Given the description of an element on the screen output the (x, y) to click on. 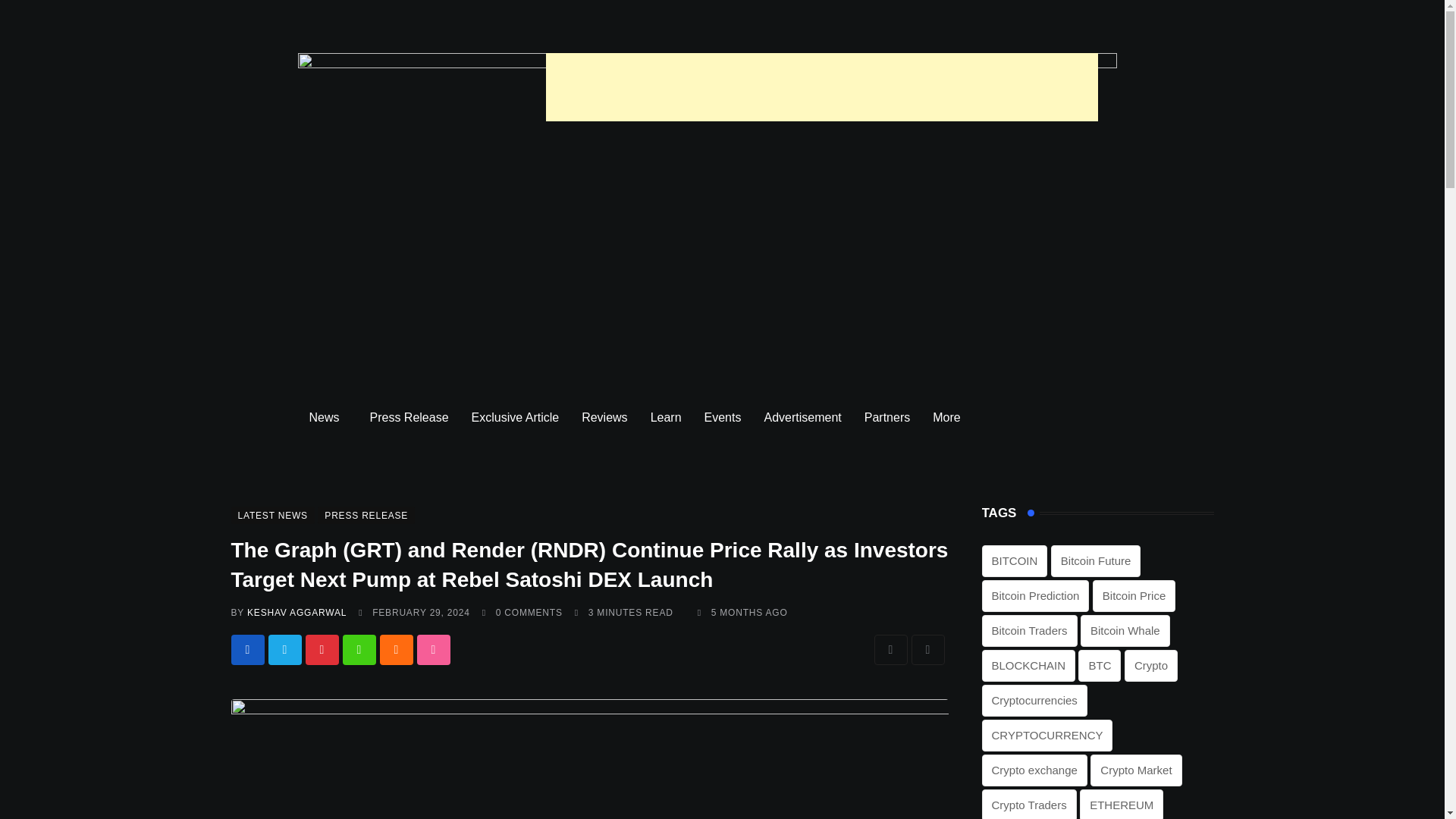
Posts by Keshav Aggarwal (296, 612)
Exclusive Article (515, 417)
PRESS RELEASE (365, 513)
Learn (666, 417)
Advertisement (801, 417)
LATEST NEWS (272, 513)
Reviews (604, 417)
KESHAV AGGARWAL (296, 612)
Press Release (409, 417)
More (949, 417)
